Given the description of an element on the screen output the (x, y) to click on. 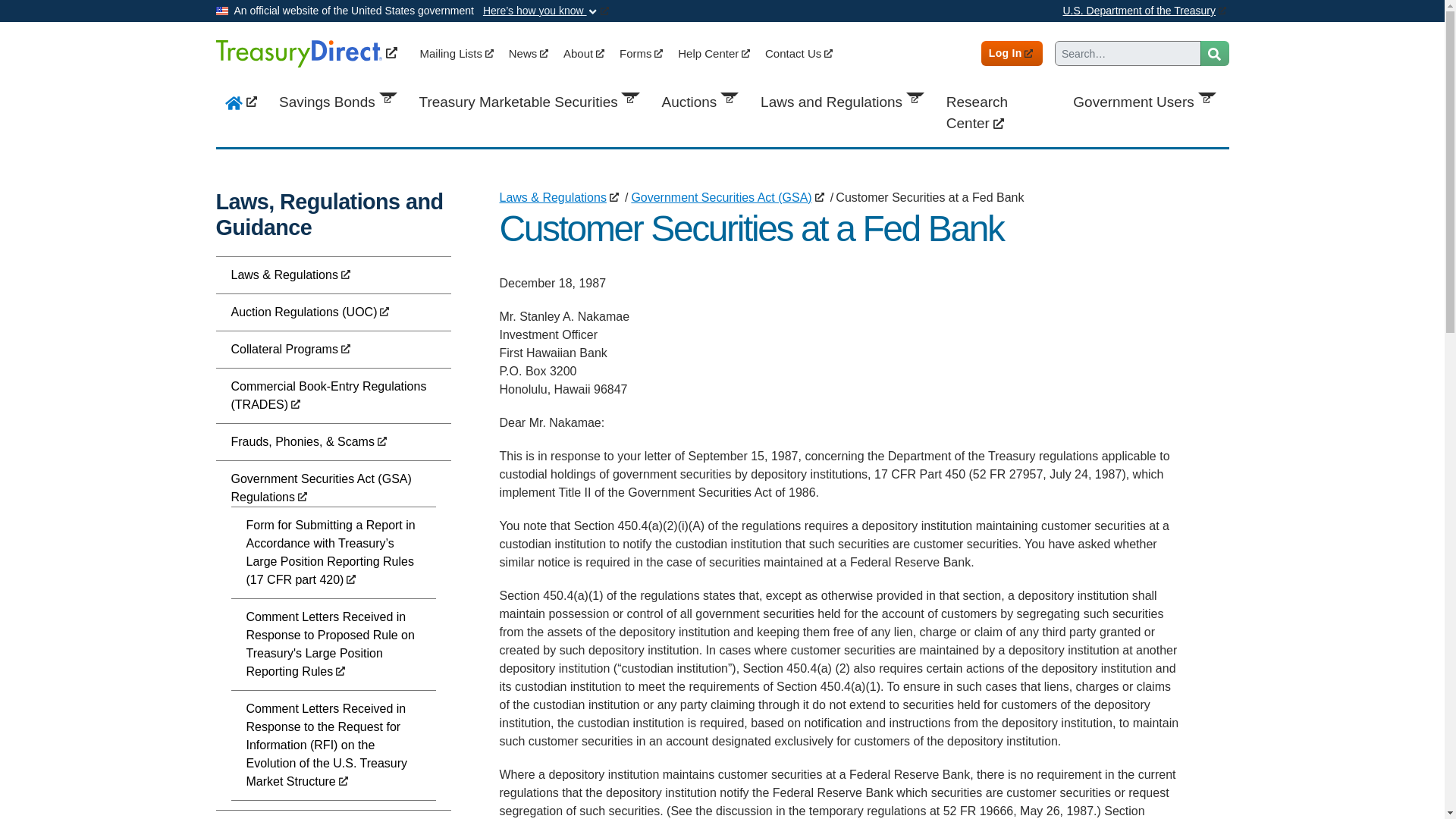
Auctions (701, 102)
Laws and Regulations (844, 102)
U.S. Department of the Treasury (1145, 10)
Treasury Marketable Securities (530, 102)
Savings Bonds (339, 102)
Log In (1011, 53)
